Given the description of an element on the screen output the (x, y) to click on. 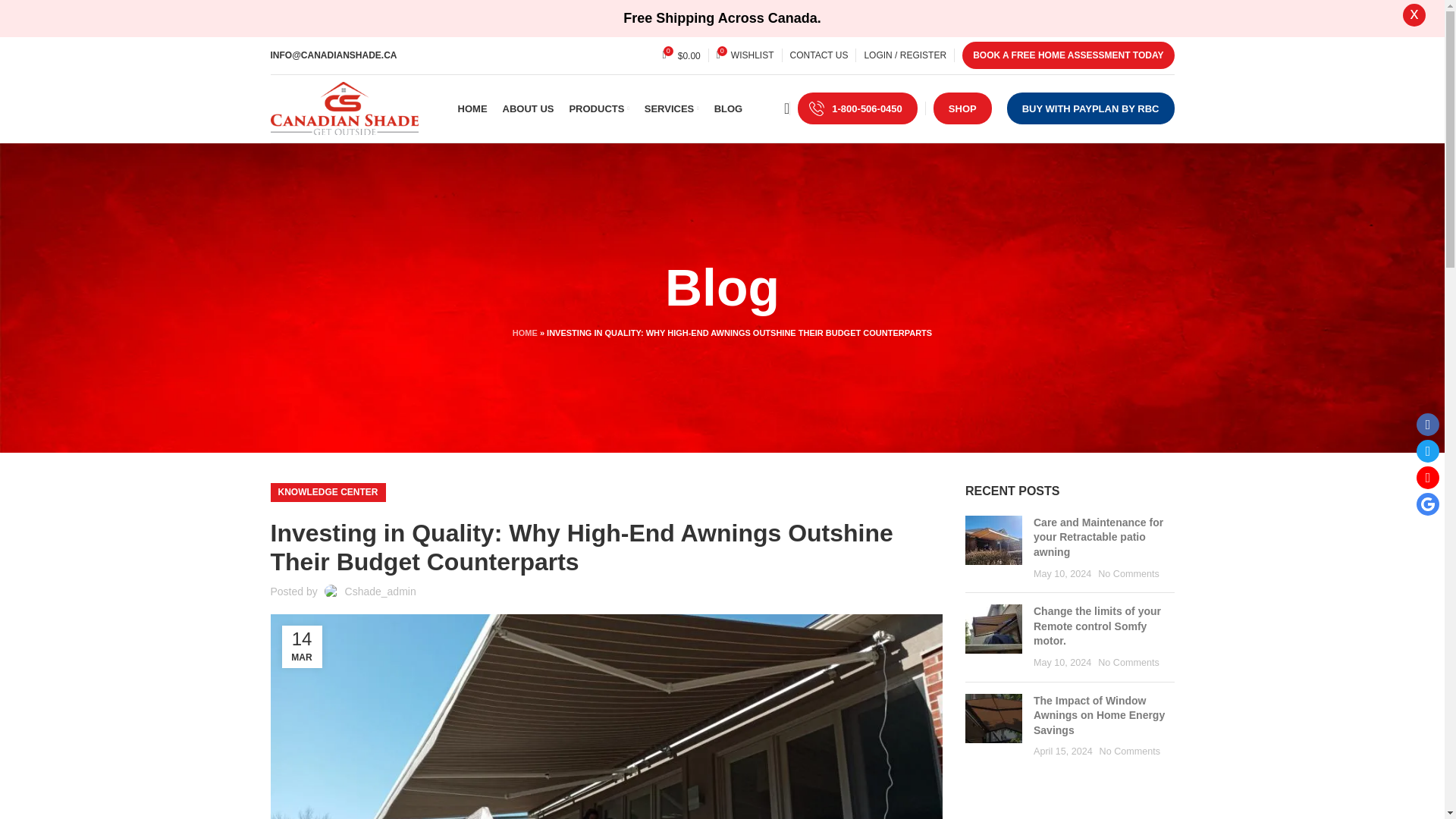
SHOP (962, 108)
HOME (472, 108)
KNOWLEDGE CENTER (327, 492)
PRODUCTS (598, 108)
CONTACT US (819, 55)
SERVICES (671, 108)
BLOG (728, 108)
HOME (524, 332)
Shopping cart (681, 55)
ABOUT US (528, 108)
BUY WITH PAYPLAN BY RBC (745, 55)
